Given the description of an element on the screen output the (x, y) to click on. 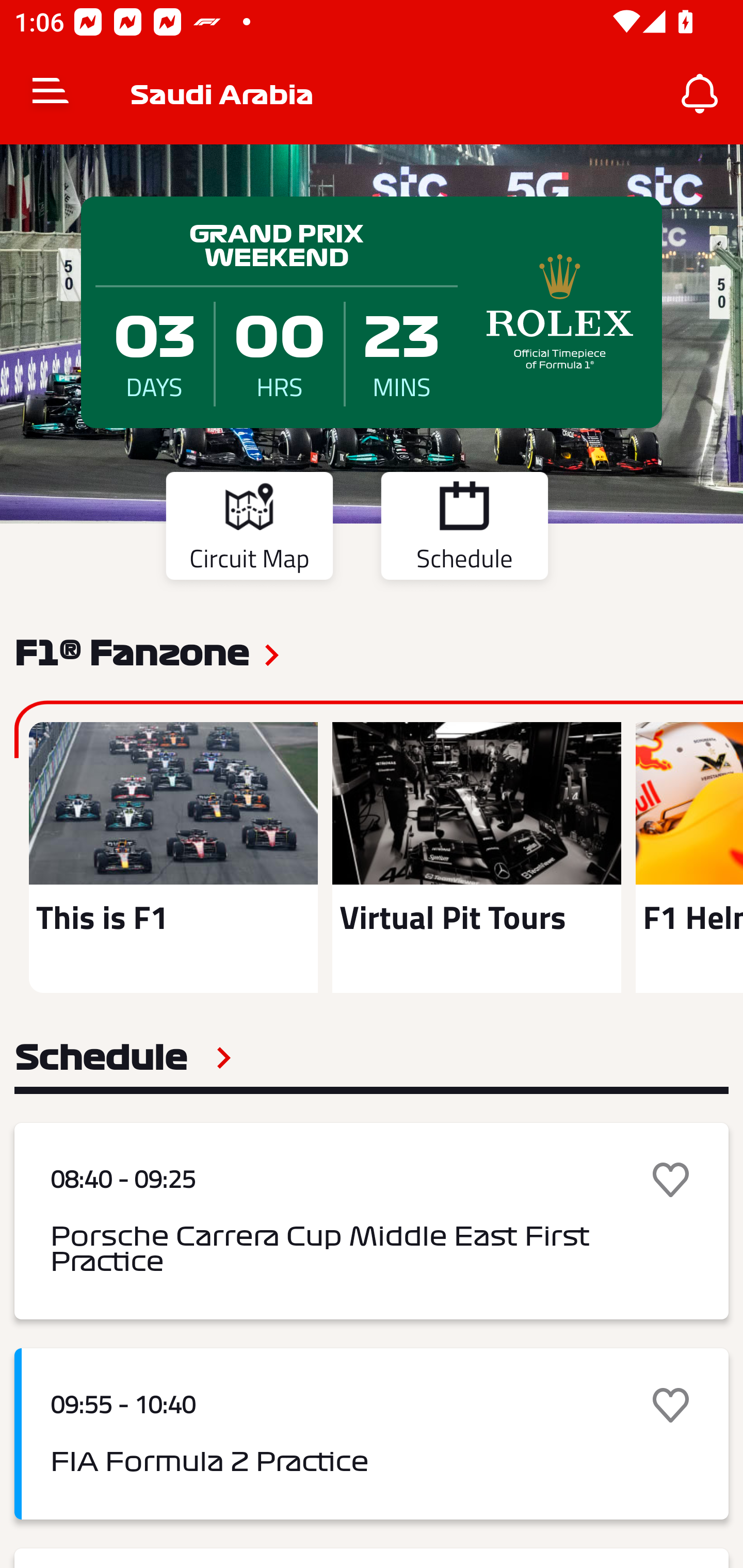
Navigate up (50, 93)
Notifications (699, 93)
Circuit Map (249, 528)
Schedule (464, 528)
F1® Fanzone (131, 651)
This is F1 (173, 857)
Virtual Pit Tours (476, 857)
Schedule (122, 1057)
09:55 - 10:40 FIA Formula 2 Practice (371, 1433)
